Given the description of an element on the screen output the (x, y) to click on. 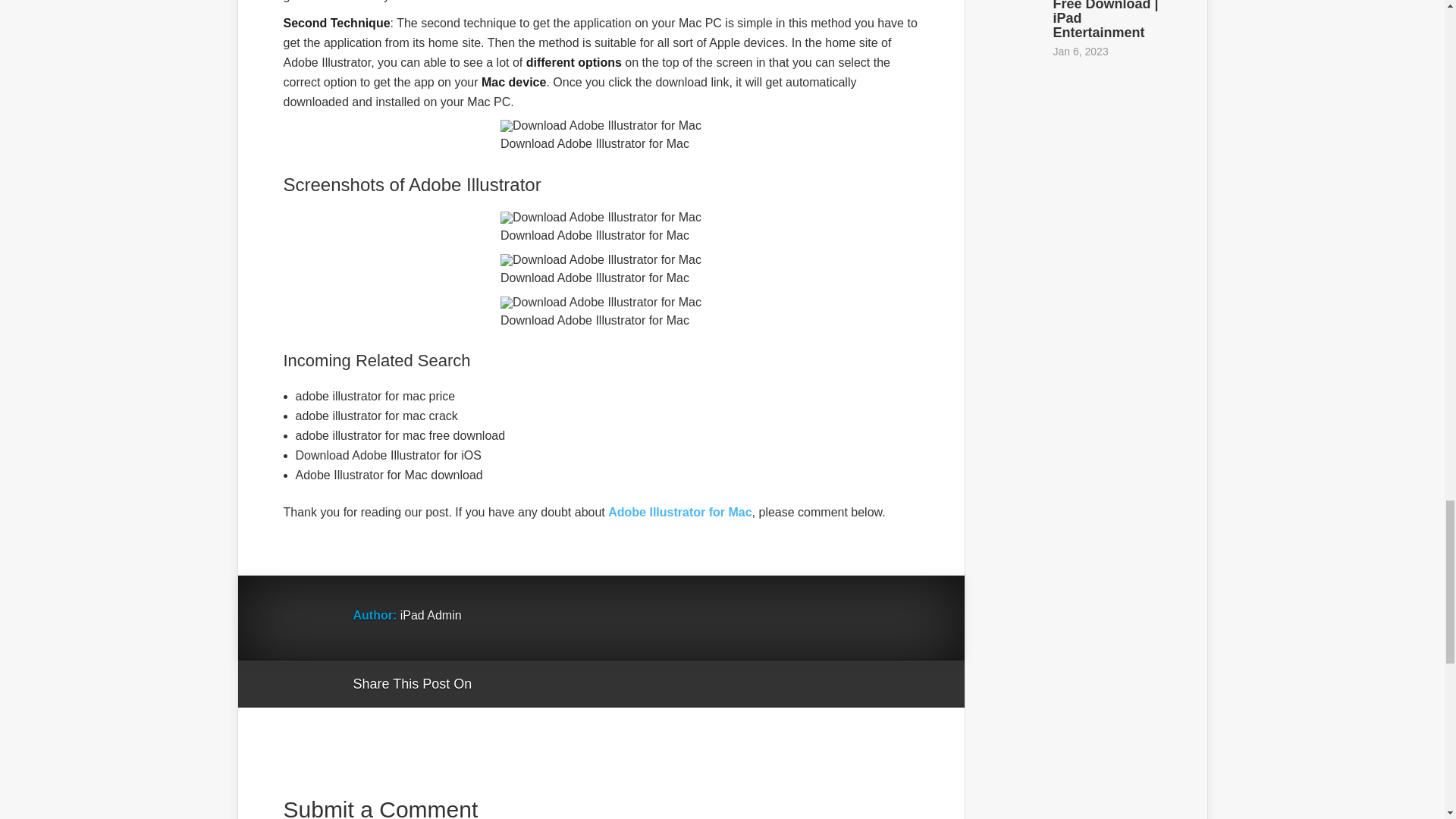
Facebook (526, 684)
Adobe Illustrator for Mac (679, 512)
Google (498, 684)
Twitter (555, 684)
